Given the description of an element on the screen output the (x, y) to click on. 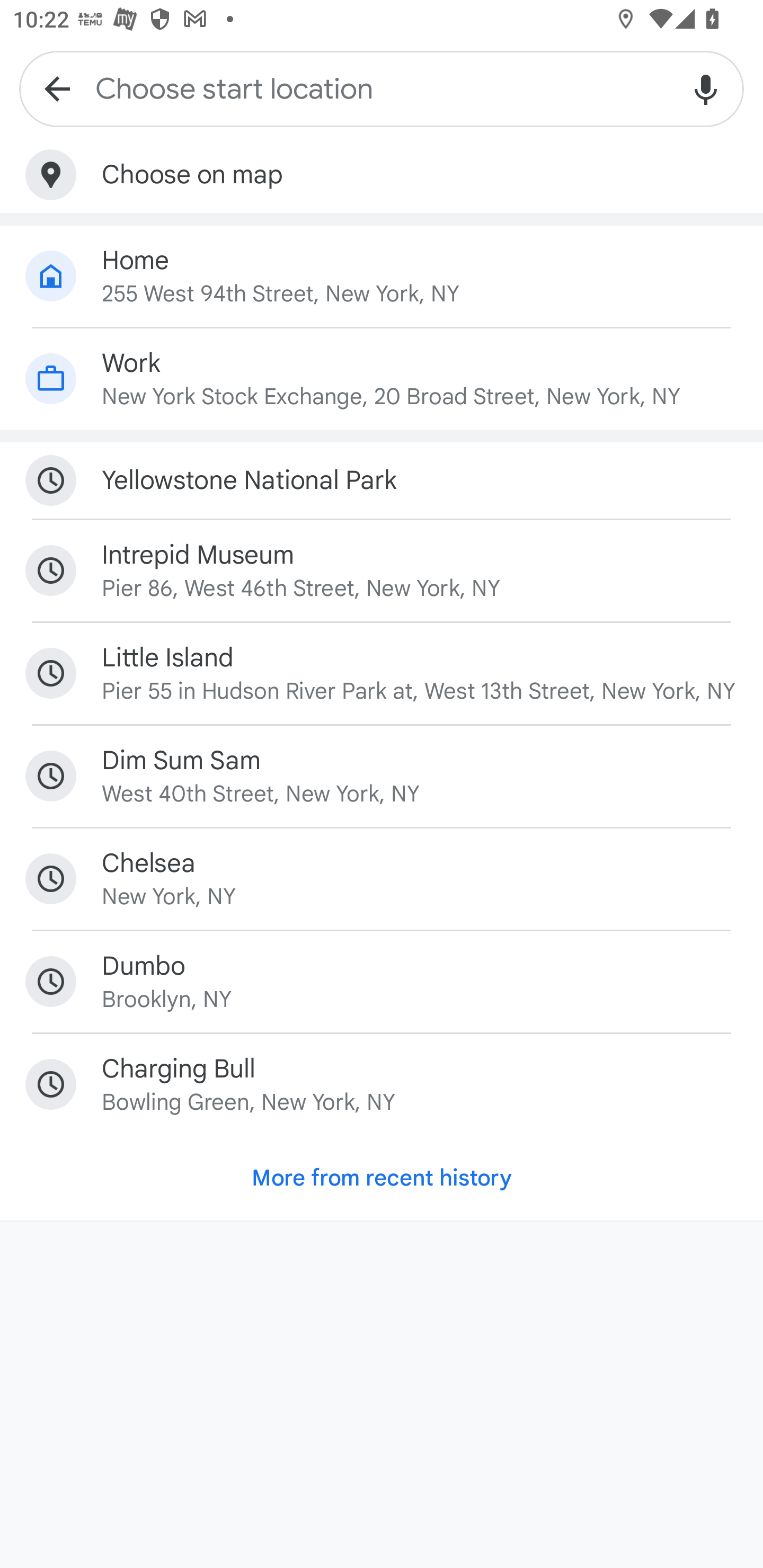
Navigate up (57, 88)
Choose start location (381, 88)
Voice search (705, 88)
Choose on map (381, 174)
Home 255 West 94th Street, New York, NY (381, 275)
Yellowstone National Park (381, 480)
Dim Sum Sam West 40th Street, New York, NY (381, 775)
Chelsea New York, NY (381, 878)
Dumbo Brooklyn, NY (381, 981)
Charging Bull Bowling Green, New York, NY (381, 1084)
More from recent history (381, 1177)
